Given the description of an element on the screen output the (x, y) to click on. 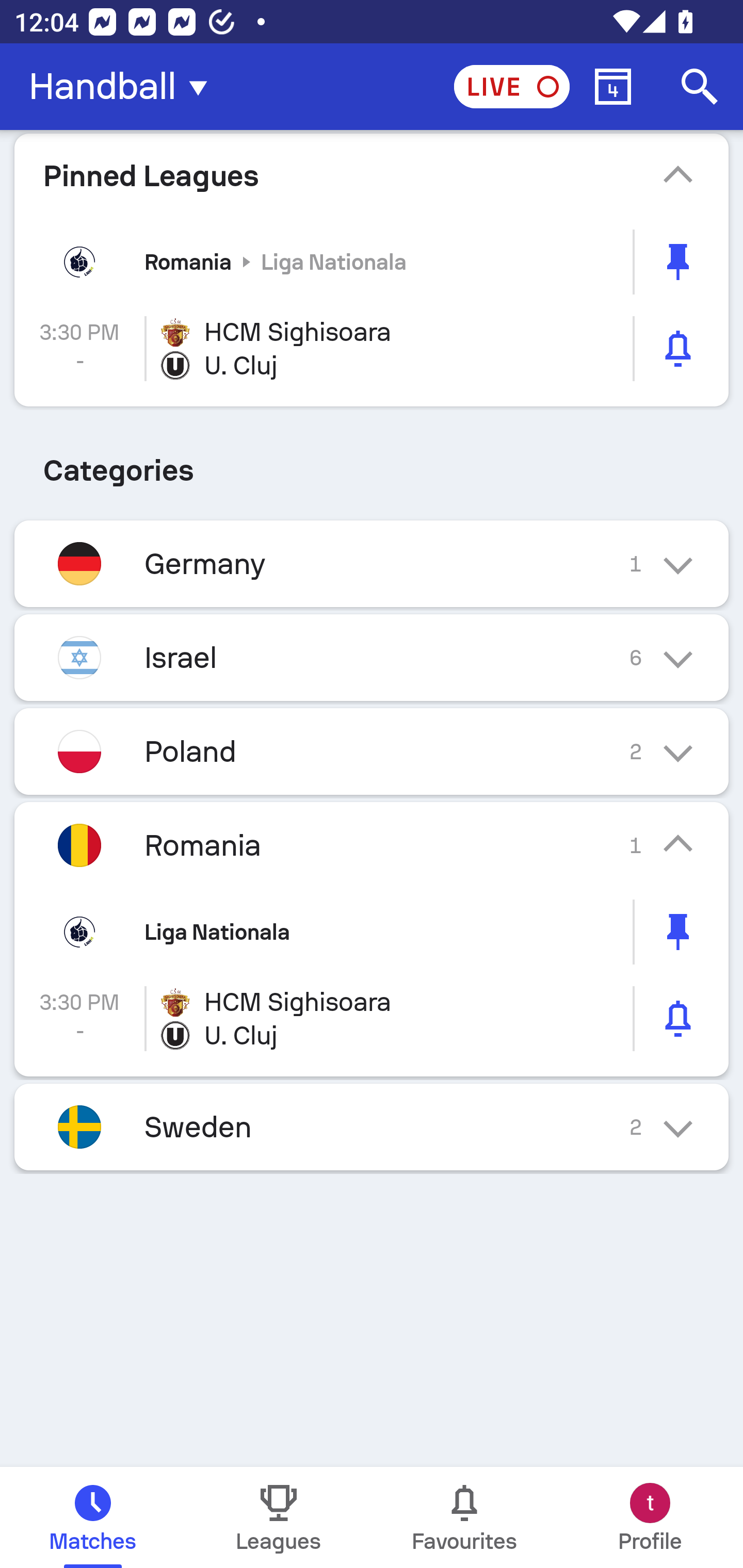
Handball (124, 86)
Calendar (612, 86)
Search (699, 86)
Pinned Leagues (371, 175)
Romania Liga Nationala (371, 261)
3:30 PM - HCM Sighisoara U. Cluj (371, 348)
Categories (371, 463)
Germany 1 (371, 563)
Israel 6 (371, 657)
Poland 2 (371, 751)
Romania 1 (371, 845)
Liga Nationala (371, 932)
3:30 PM - HCM Sighisoara U. Cluj (371, 1018)
Sweden 2 (371, 1126)
Leagues (278, 1517)
Favourites (464, 1517)
Profile (650, 1517)
